Given the description of an element on the screen output the (x, y) to click on. 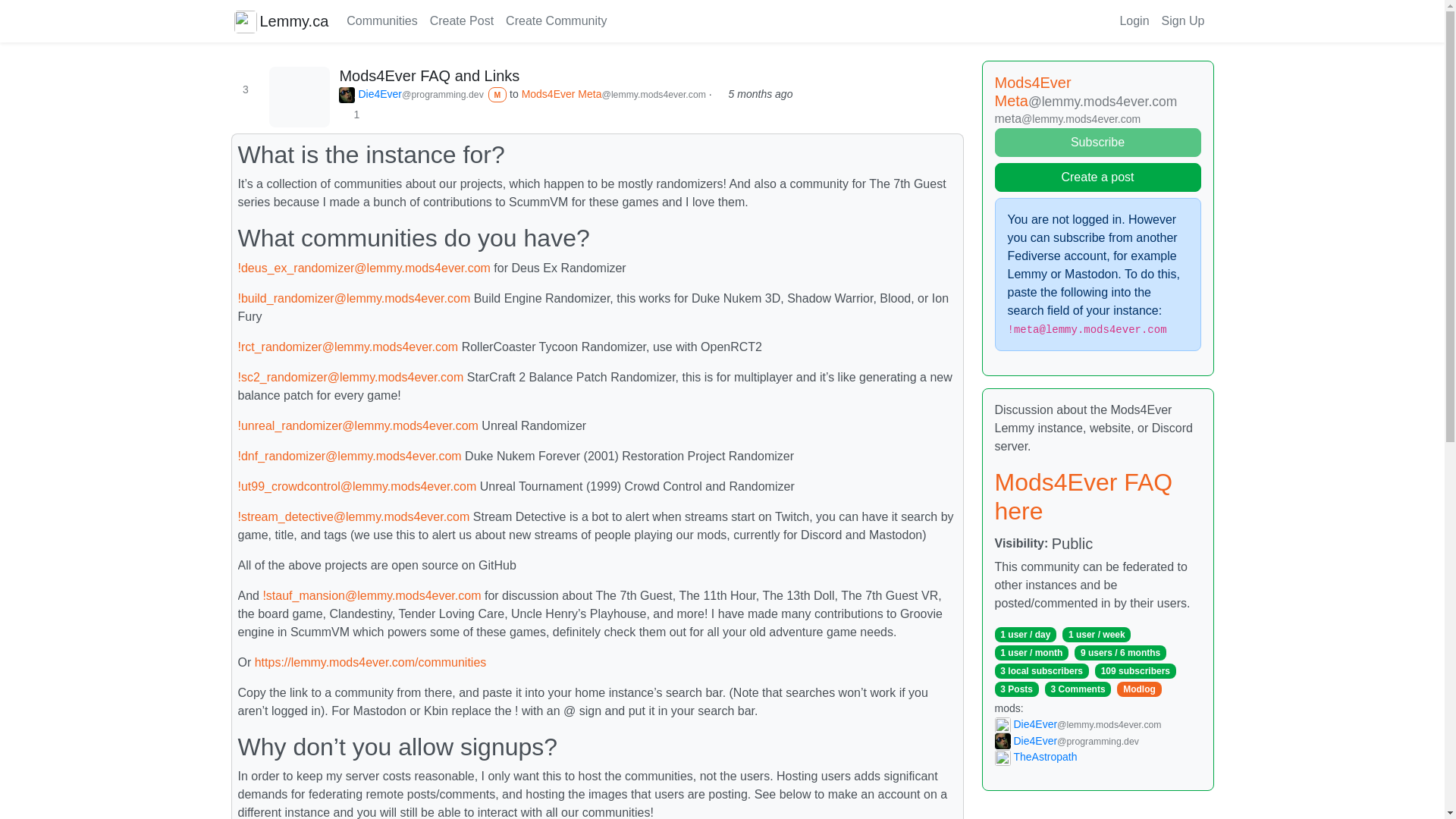
Mods4Ever FAQ and Links (429, 75)
Sign Up (1183, 20)
Login (1133, 20)
Comments (429, 75)
Communities (381, 20)
Communities (381, 20)
Create Post (461, 20)
Login (1133, 20)
Sign Up (1183, 20)
